Given the description of an element on the screen output the (x, y) to click on. 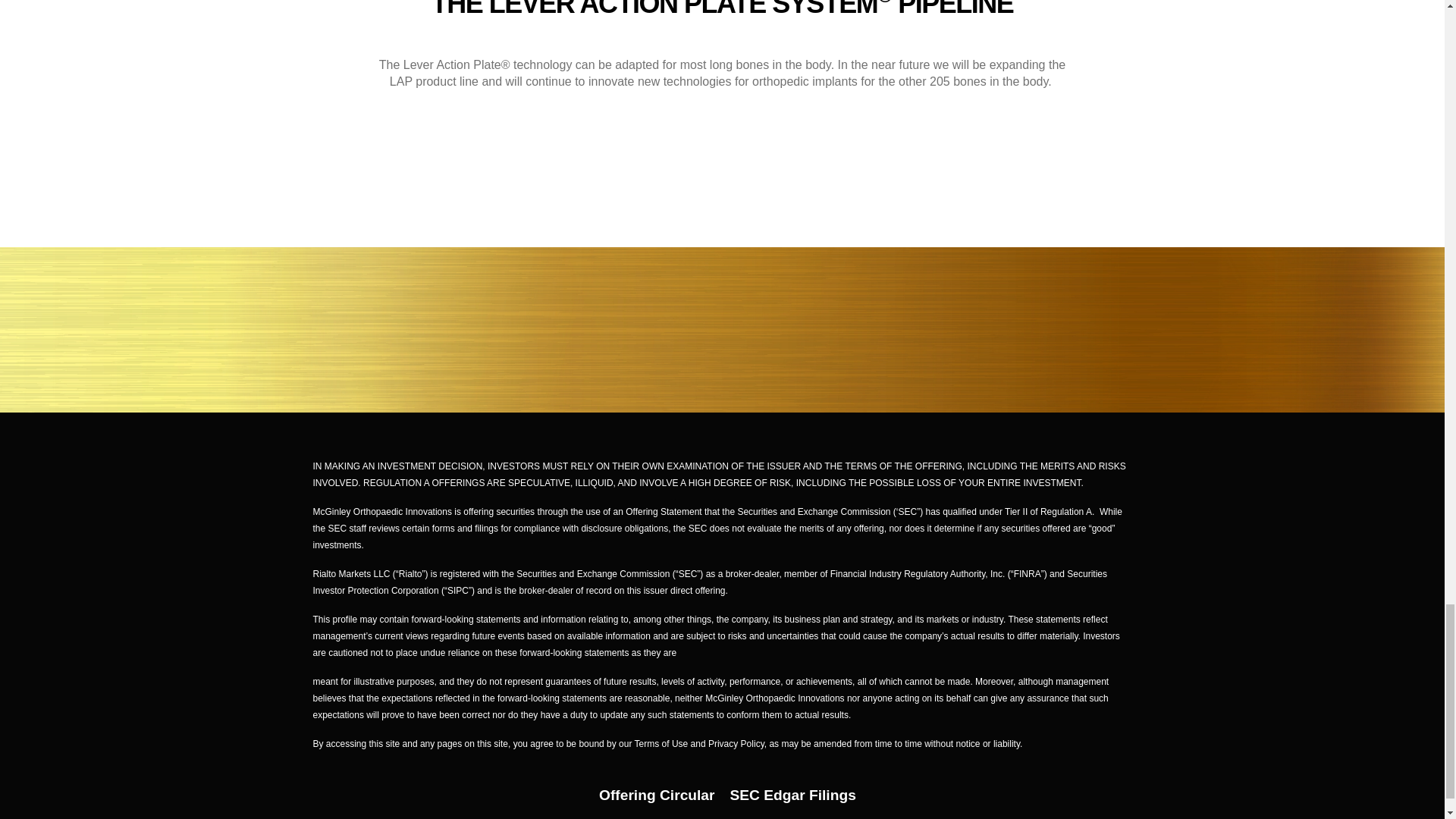
Offering Circular (656, 795)
Terms of Use (659, 743)
Privacy Policy (735, 743)
Offering Statement (663, 511)
SEC Edgar Filings (792, 795)
